Given the description of an element on the screen output the (x, y) to click on. 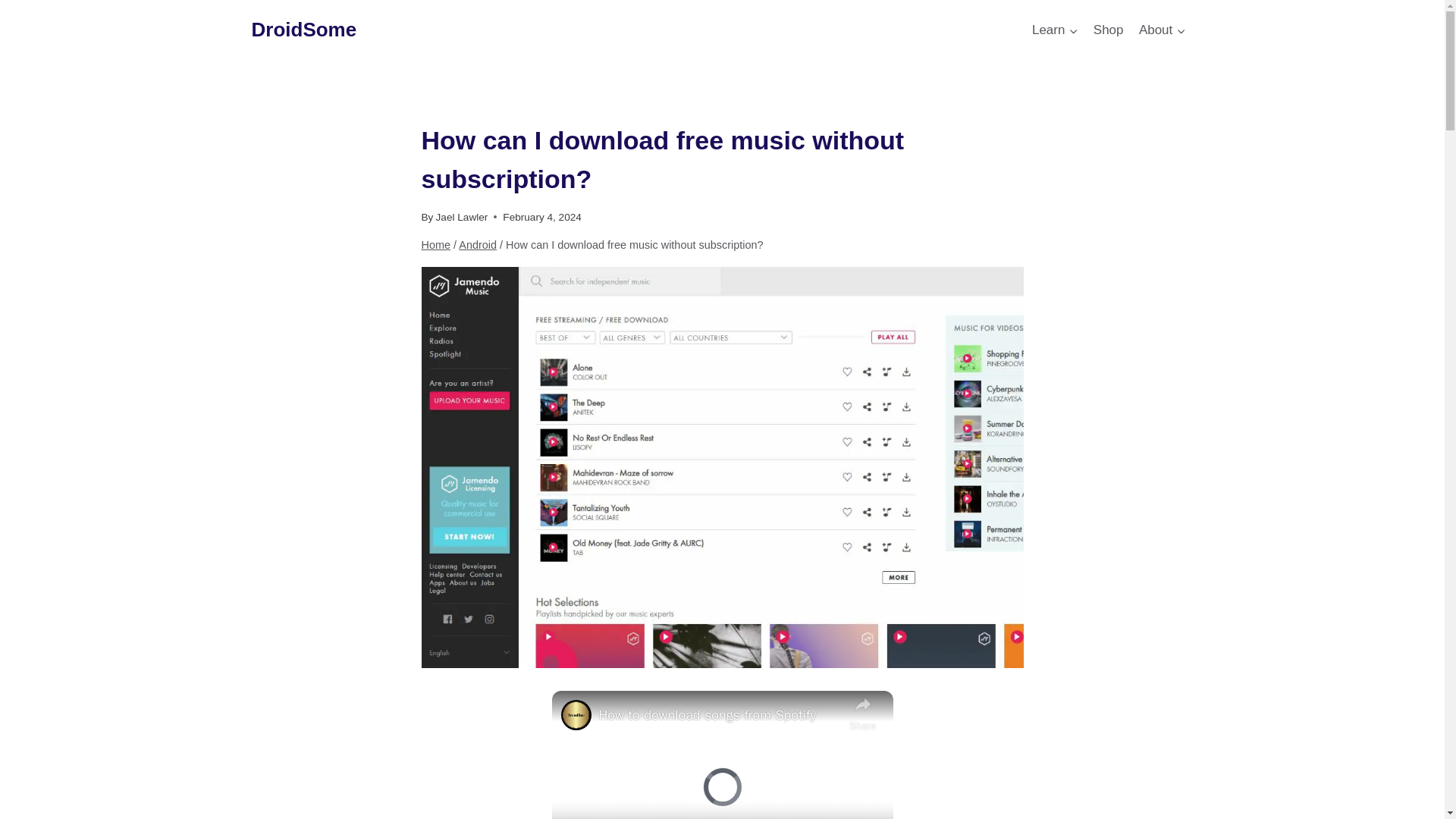
Home (436, 244)
Shop (1108, 30)
Learn (1055, 30)
How to download songs from Spotify (719, 715)
Android (477, 244)
Jael Lawler (461, 216)
DroidSome (303, 29)
About (1162, 30)
